Given the description of an element on the screen output the (x, y) to click on. 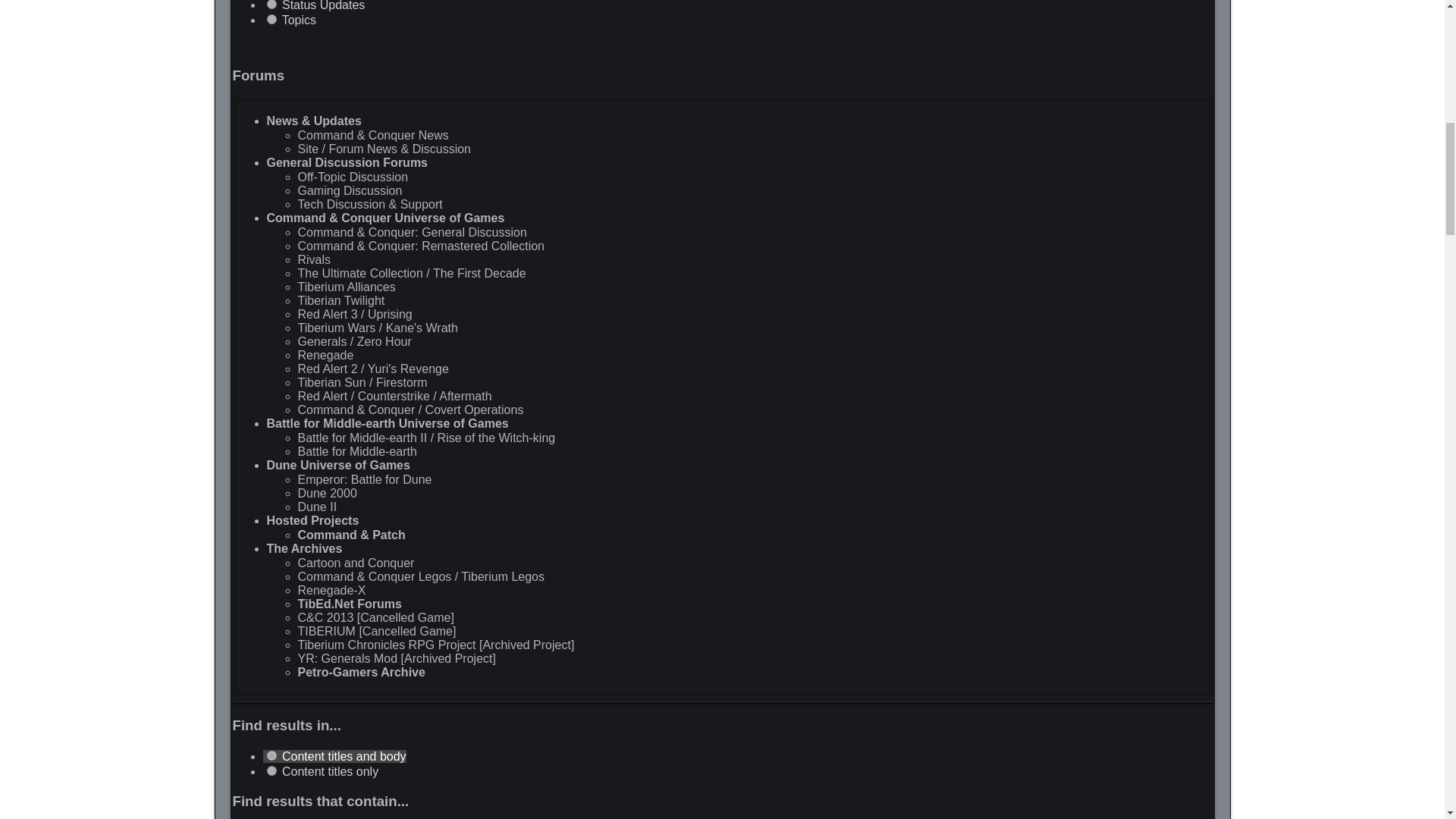
titles (271, 770)
all (271, 755)
